Given the description of an element on the screen output the (x, y) to click on. 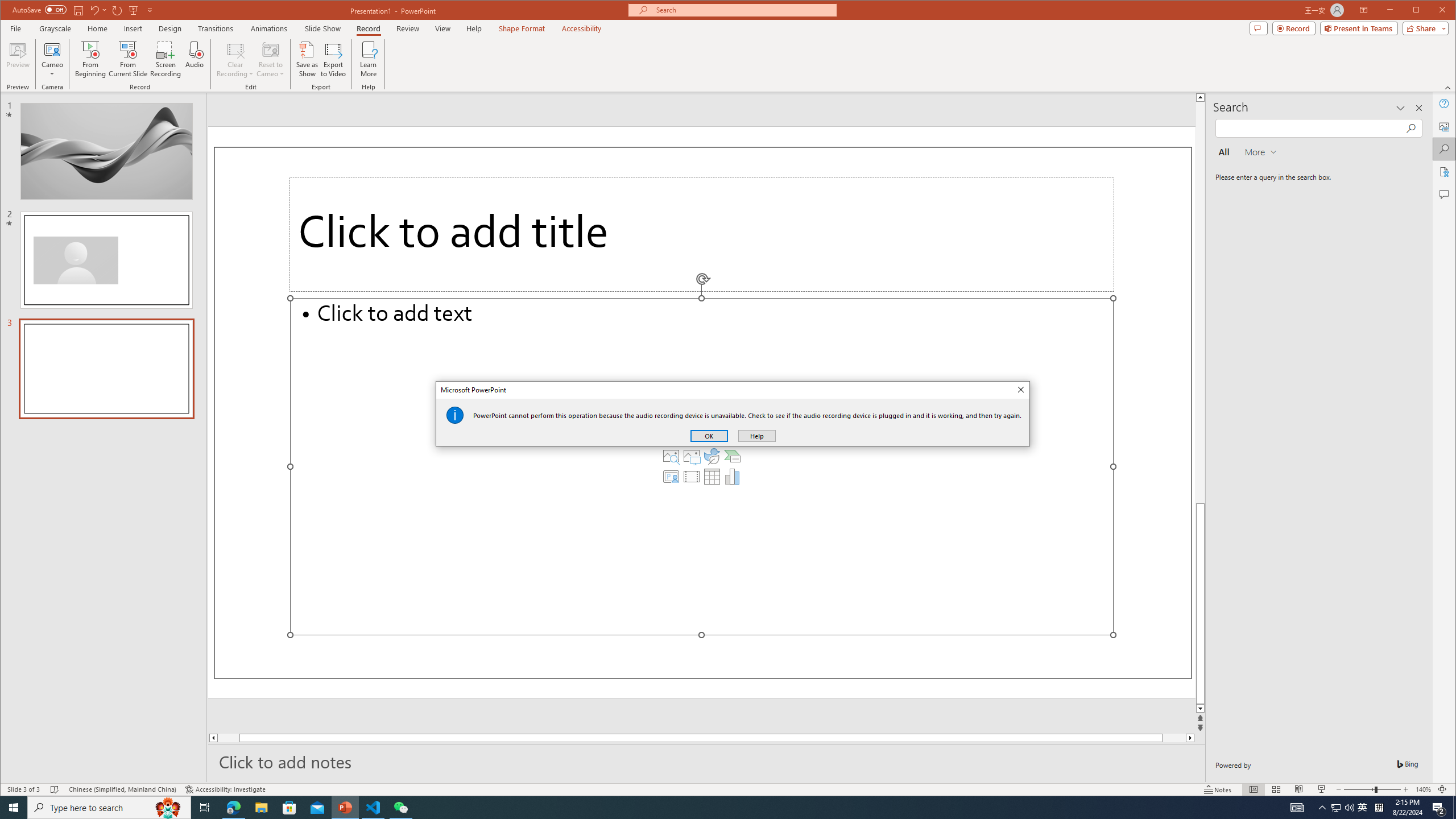
Class: Static (454, 415)
Insert Table (711, 476)
